Given the description of an element on the screen output the (x, y) to click on. 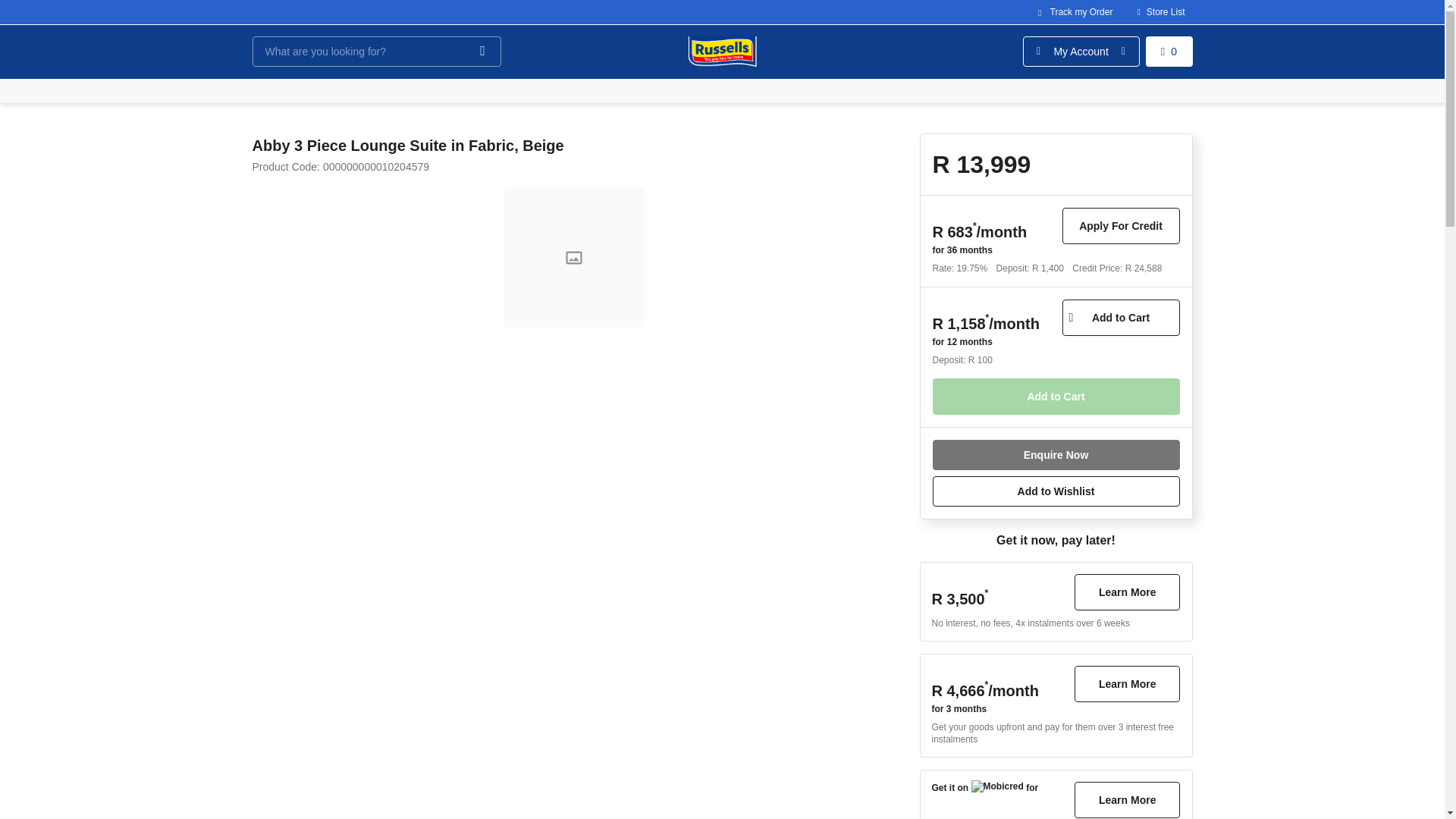
Search (482, 51)
Enquire Now (1056, 454)
Learn More (1127, 592)
Add to Cart (1056, 396)
Add to Cart (1056, 396)
Learn More (1127, 683)
Add to Wishlist (1056, 490)
Learn More (1127, 800)
Apply For Credit (1120, 226)
Add to Cart (1120, 317)
Search (482, 51)
Store List (1160, 12)
